Given the description of an element on the screen output the (x, y) to click on. 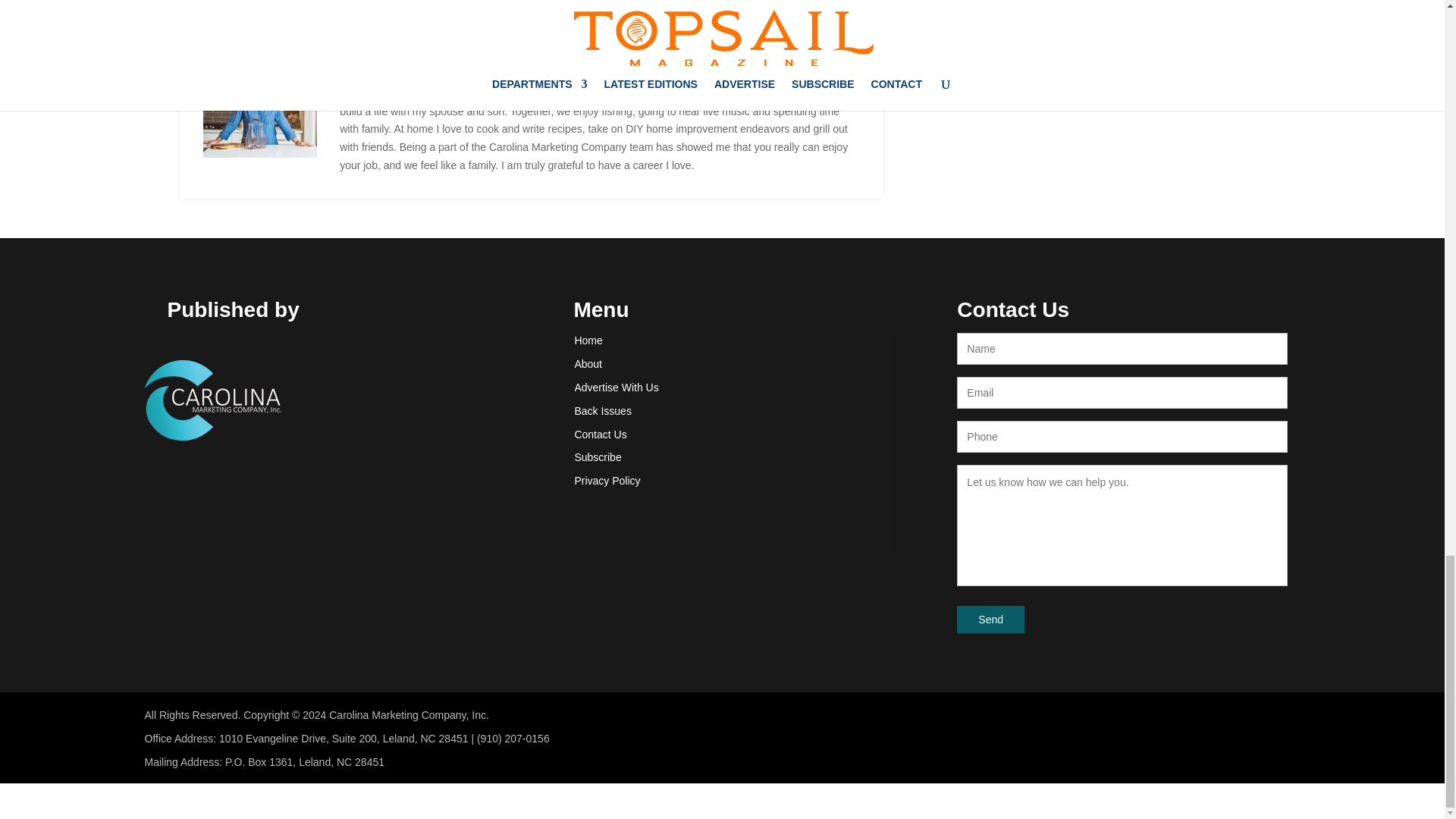
Carolina Marketing Company (212, 400)
Send (990, 619)
